Given the description of an element on the screen output the (x, y) to click on. 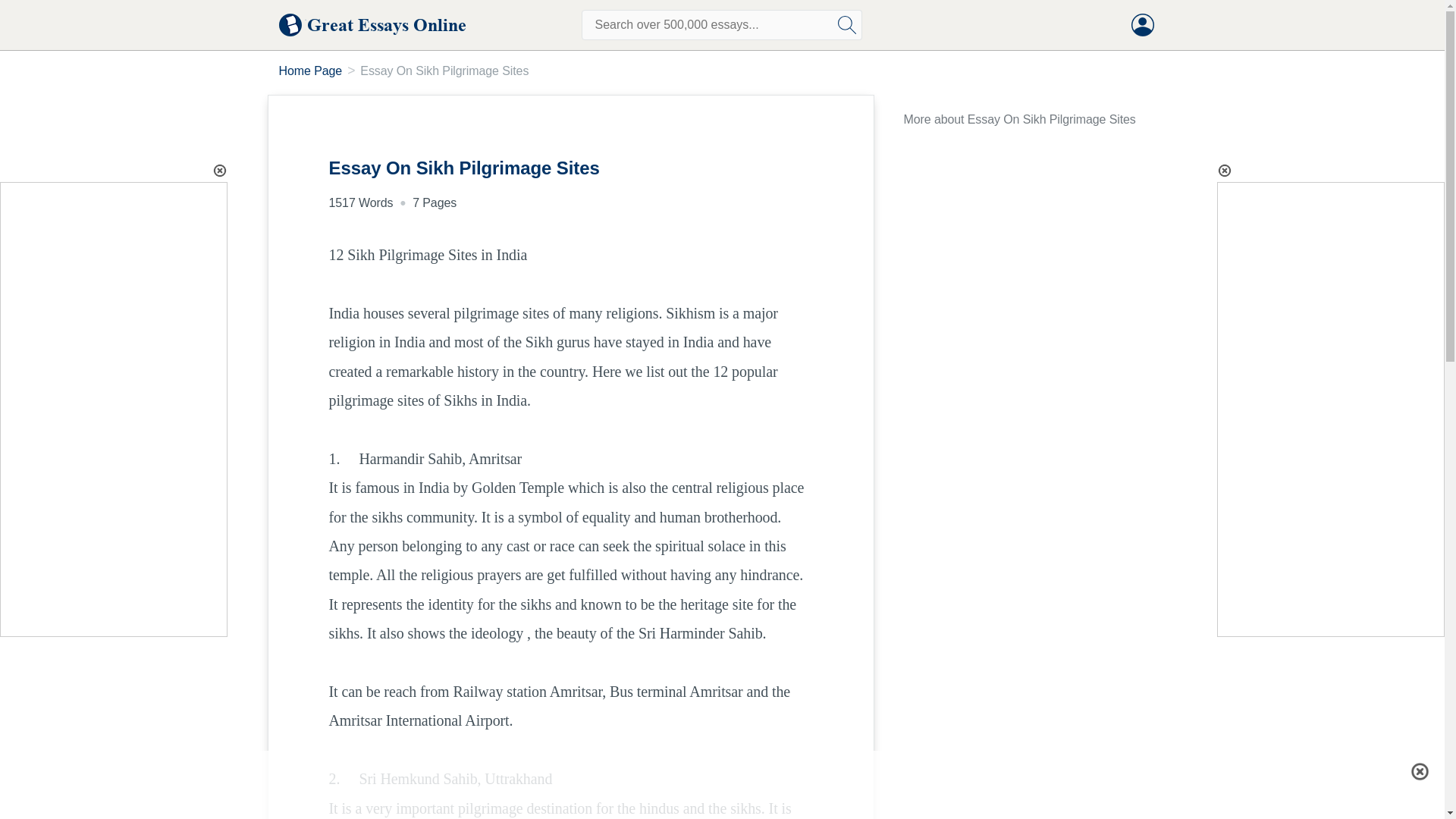
Home Page (310, 70)
3rd party ad content (721, 769)
